Given the description of an element on the screen output the (x, y) to click on. 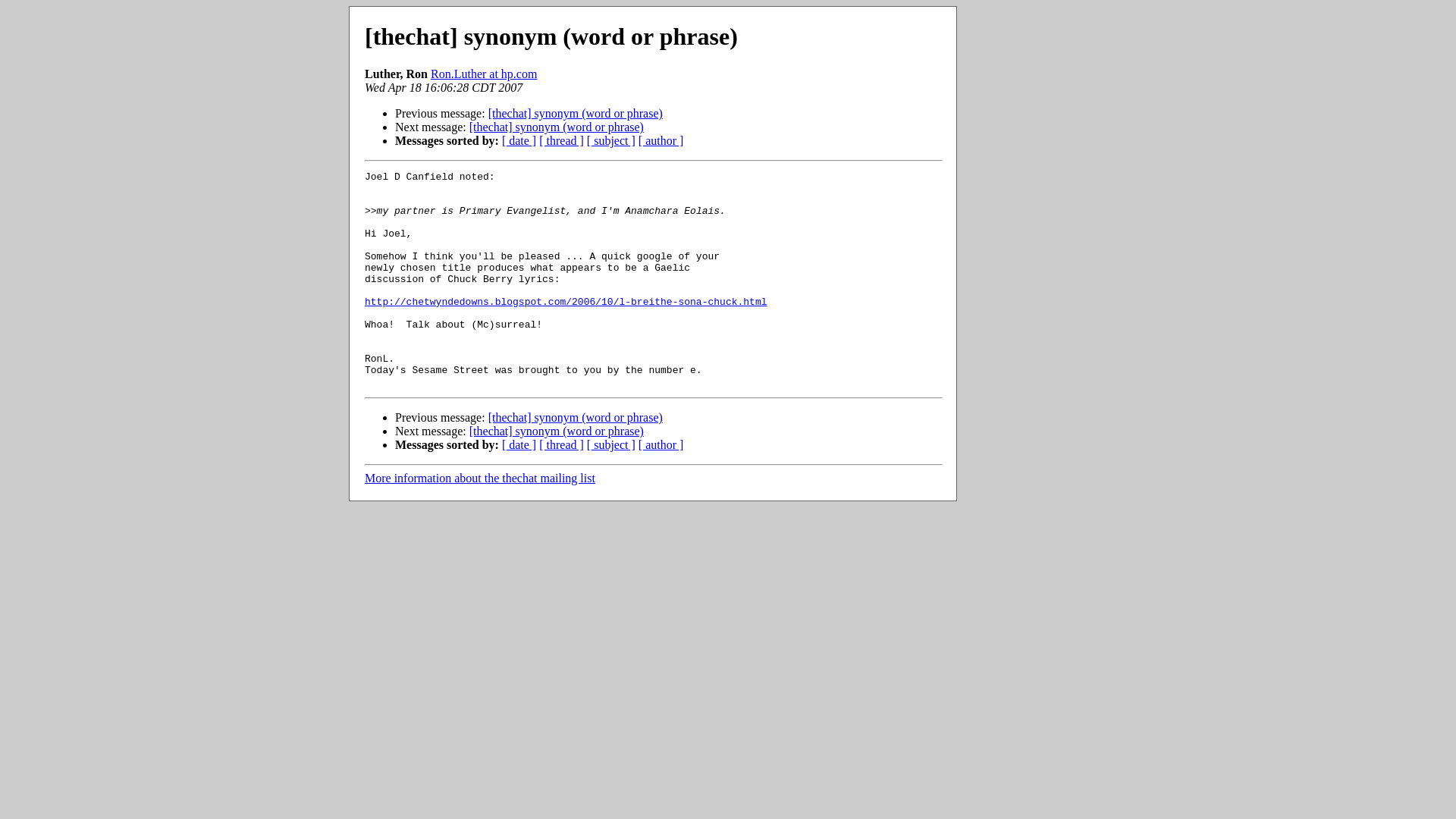
Ron.Luther at hp.com (483, 73)
More information about the thechat mailing list (480, 477)
